Given the description of an element on the screen output the (x, y) to click on. 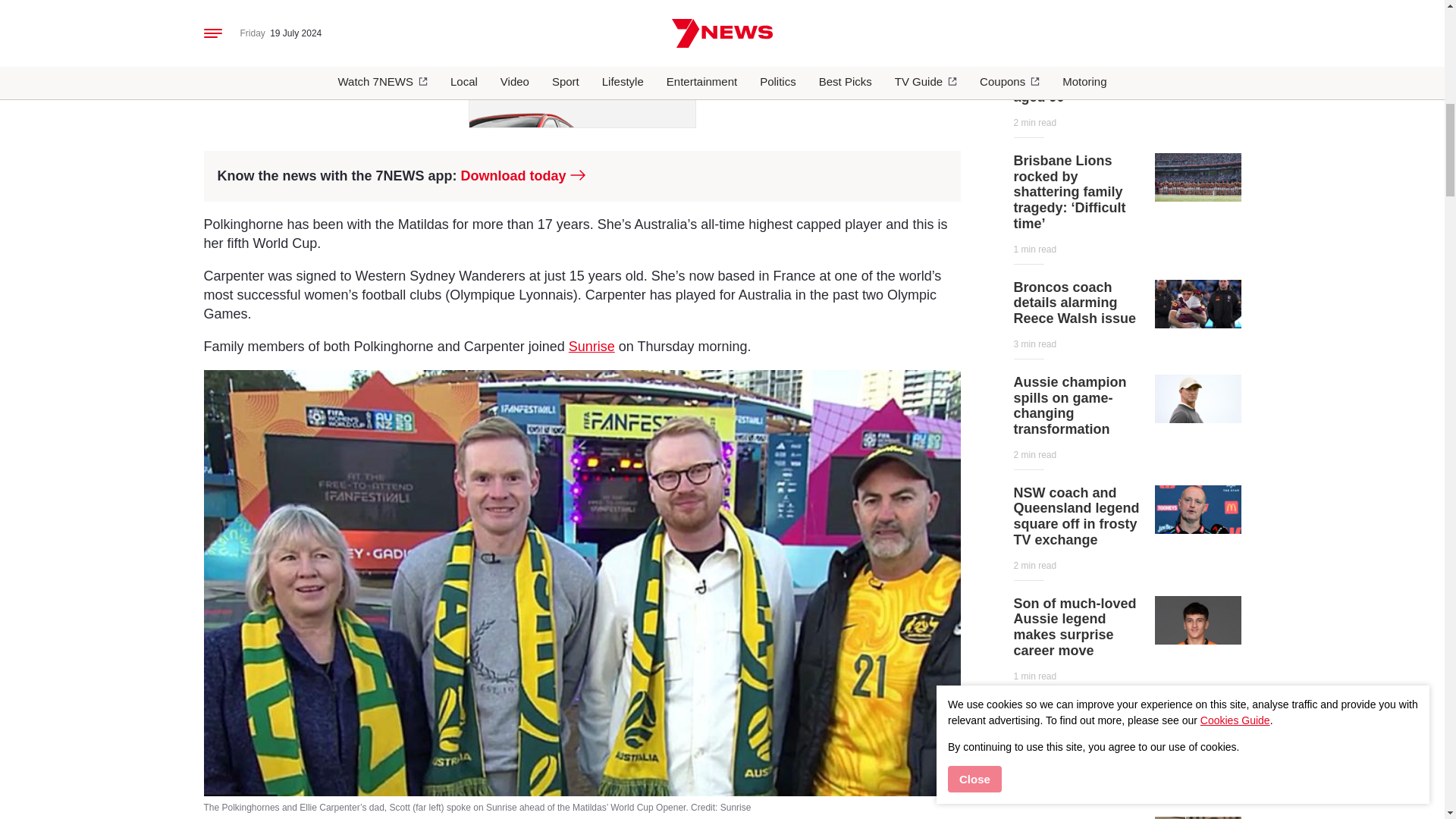
3rd party ad content (581, 63)
